Given the description of an element on the screen output the (x, y) to click on. 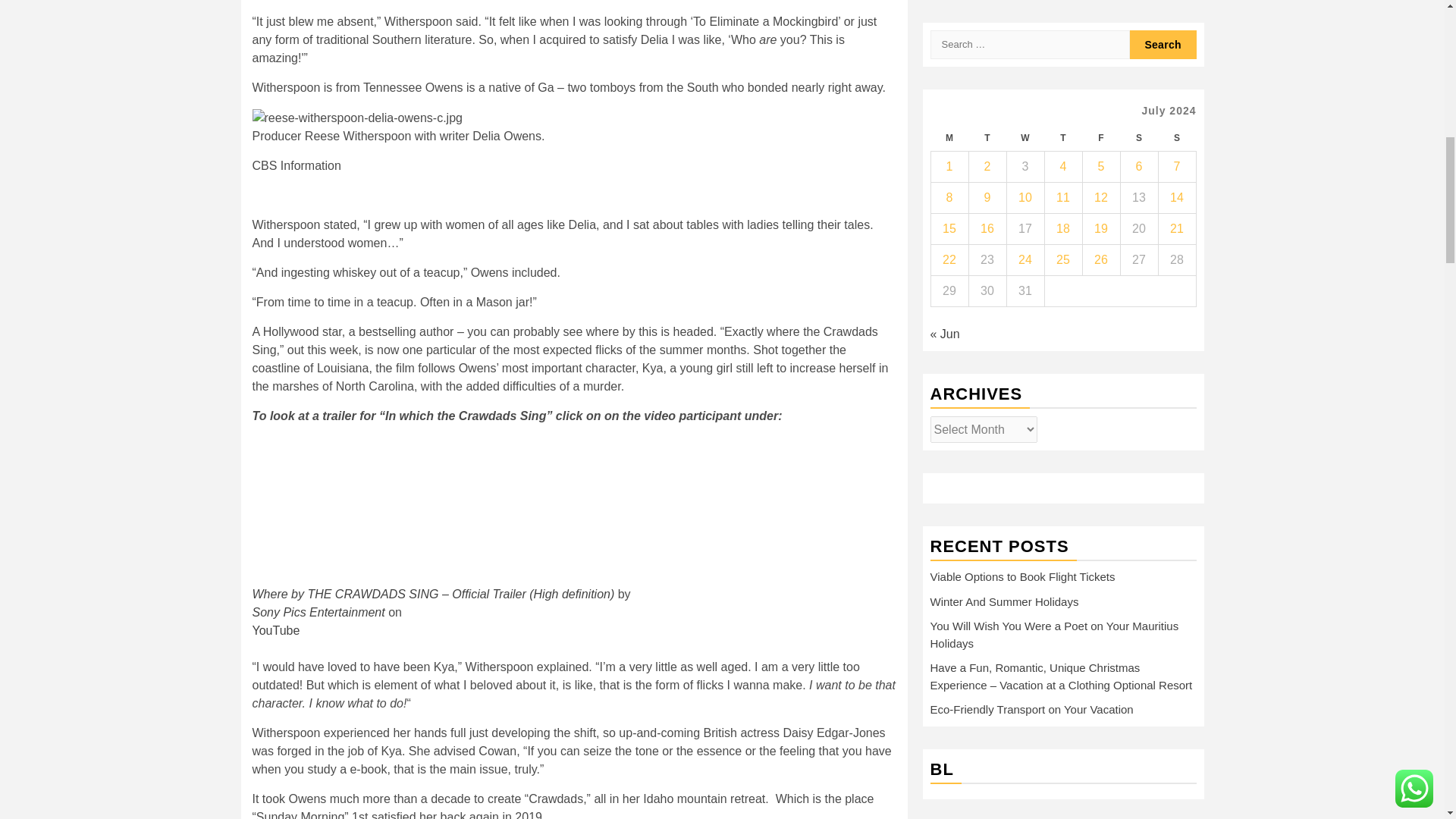
YouTube (275, 630)
Sony Pics Entertainment (317, 612)
